Given the description of an element on the screen output the (x, y) to click on. 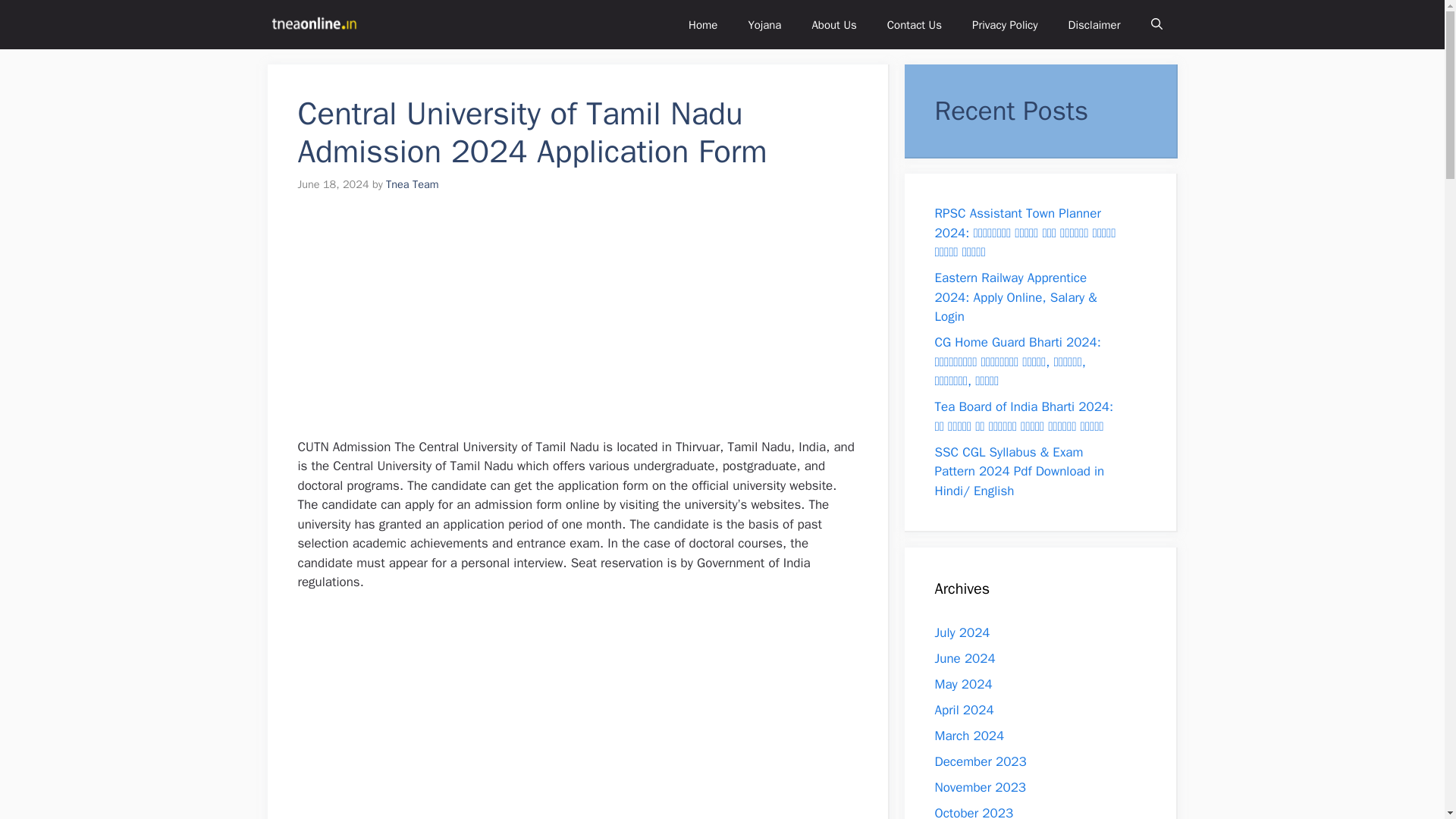
Advertisement (581, 325)
Contact Us (914, 23)
Tnea Online (312, 24)
June 2024 (964, 658)
Advertisement (581, 714)
April 2024 (963, 709)
About Us (833, 23)
Tnea Team (412, 183)
July 2024 (962, 632)
May 2024 (962, 684)
